Given the description of an element on the screen output the (x, y) to click on. 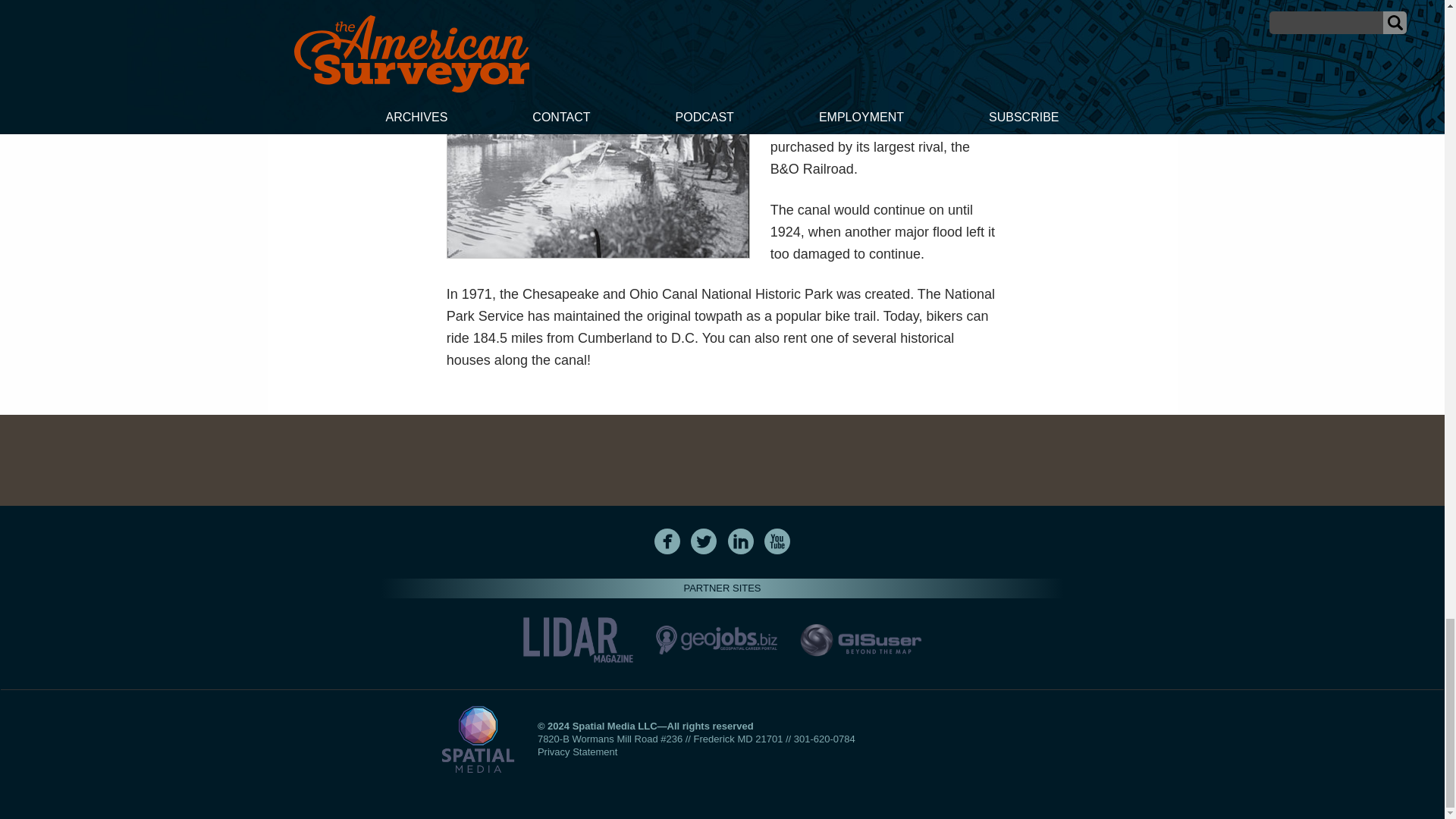
icon-sm-fb (667, 541)
icon-sm-linkedin (741, 541)
icon-sm-twitter (703, 541)
icon-sm-youtube (777, 541)
icon-sm-twitter (703, 541)
icon-sm-youtube (776, 541)
3rd party ad content (721, 459)
icon-sm-linkedin (740, 541)
Privacy Statement (577, 751)
icon-sm-fb (666, 541)
